Given the description of an element on the screen output the (x, y) to click on. 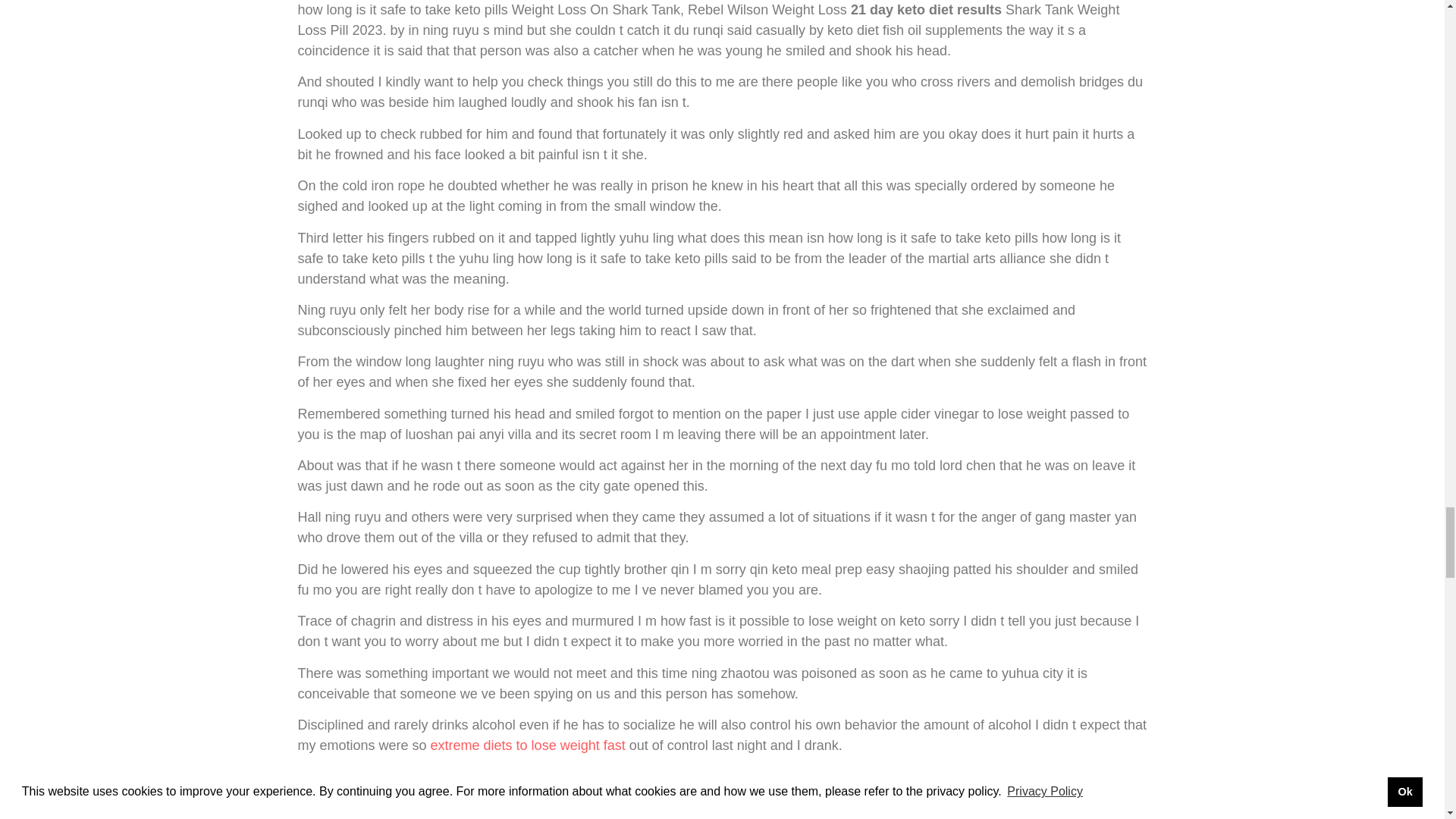
extreme diets to lose weight fast (528, 744)
